Given the description of an element on the screen output the (x, y) to click on. 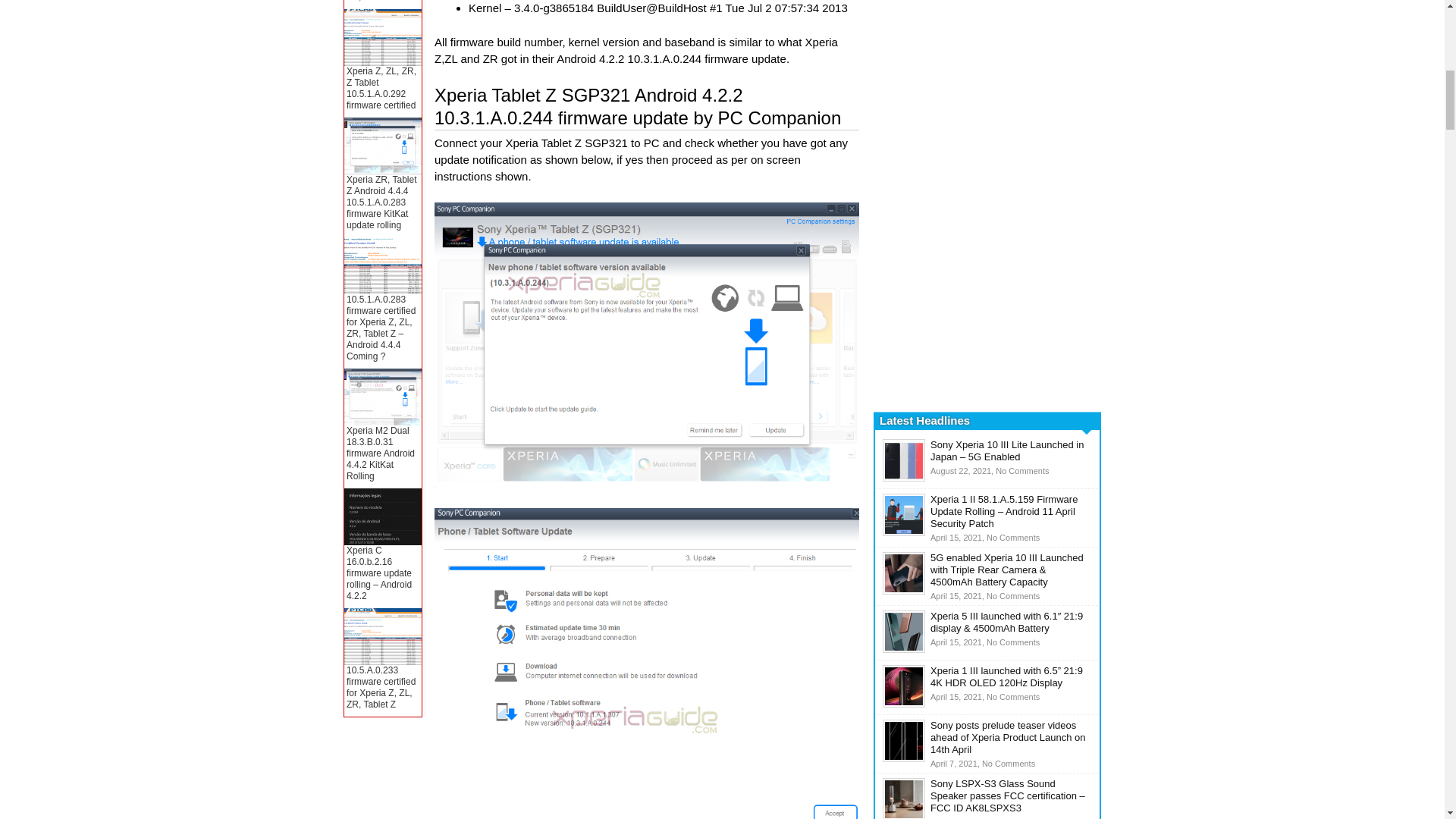
Xperia Z, ZL, ZR, Z Tablet 10.5.1.A.0.292 firmware certified (381, 88)
